Given the description of an element on the screen output the (x, y) to click on. 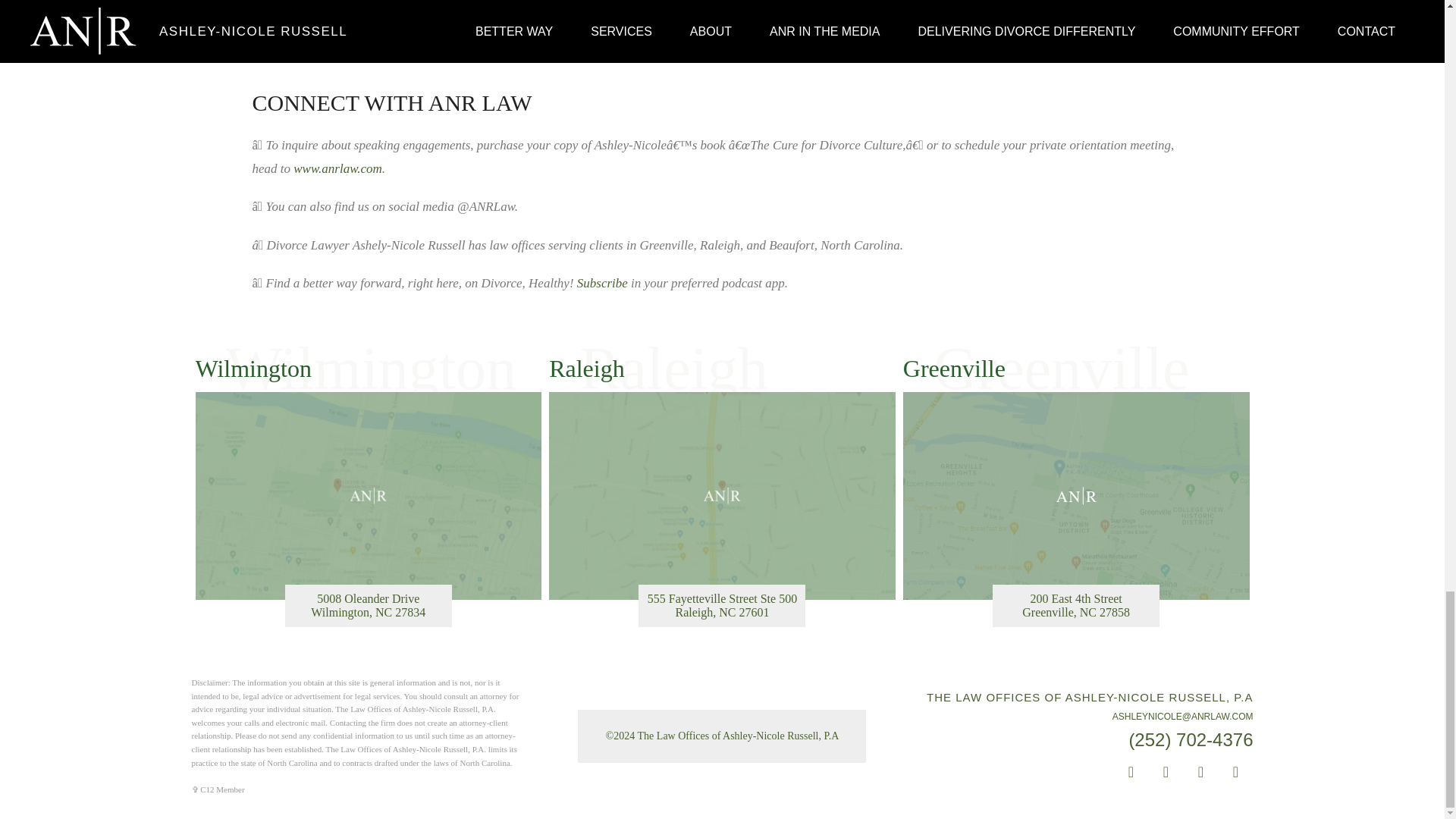
Follow ANR Law on LinkedIn (1201, 771)
Follow ANR Law on Instagram (1236, 771)
Follow ANR Law on YouTube (1166, 771)
Like ANR Law on Facebook (1131, 771)
